Given the description of an element on the screen output the (x, y) to click on. 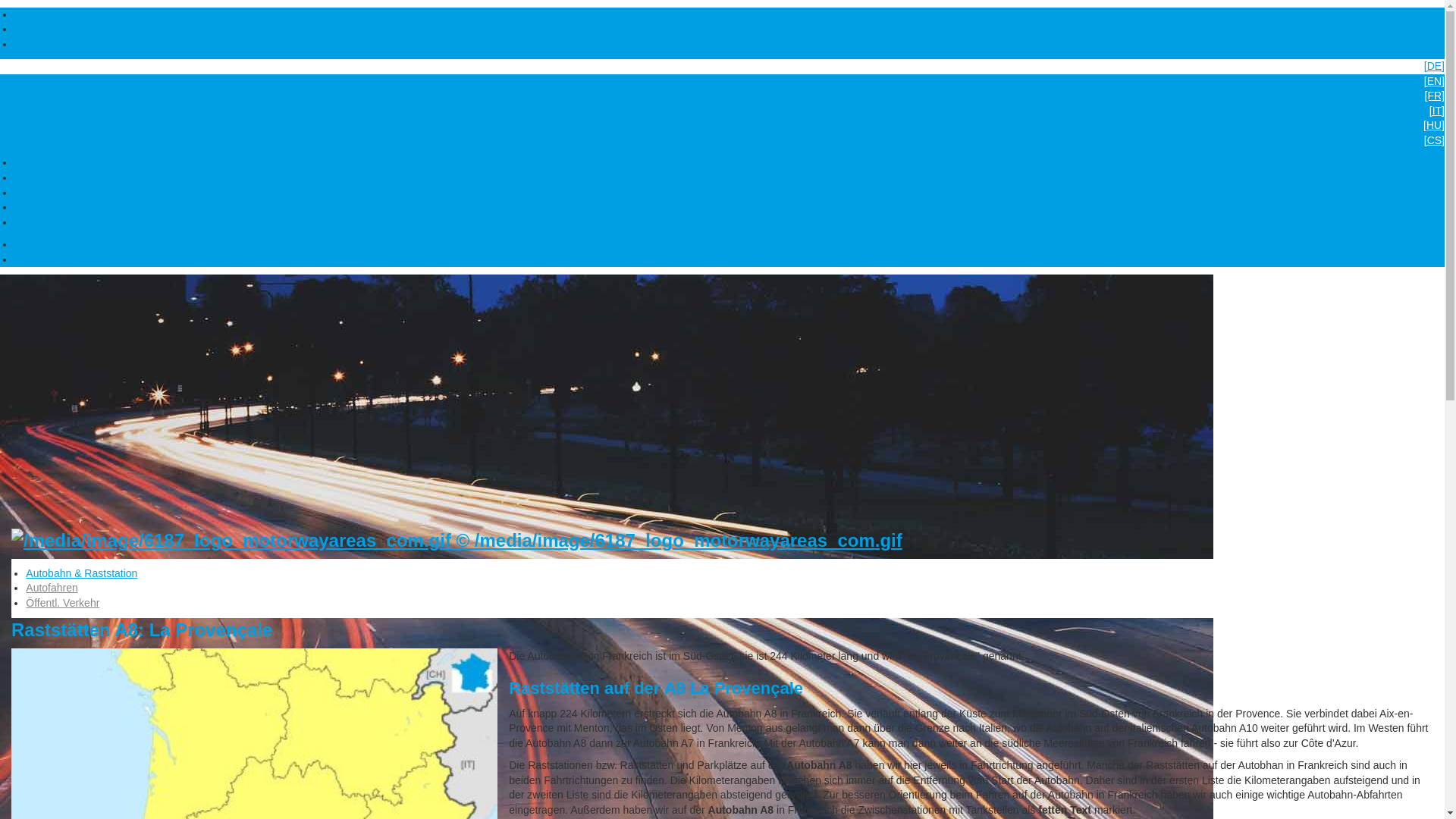
Autobahn & Raststation Element type: text (81, 573)
[CS] Element type: text (722, 140)
A Element type: text (728, 206)
Autofahren Element type: text (51, 587)
A Element type: text (728, 222)
A Element type: text (728, 162)
Sprachnavigation Element type: text (729, 14)
A Element type: text (728, 177)
+ Element type: text (729, 244)
Zur Startseite Element type: hover (456, 538)
[EN] Element type: text (722, 81)
A Element type: text (728, 192)
[FR] Element type: text (722, 95)
[HU] Element type: text (722, 125)
Easy2See Element type: text (729, 28)
- Element type: text (729, 259)
[IT] Element type: text (722, 111)
